Given the description of an element on the screen output the (x, y) to click on. 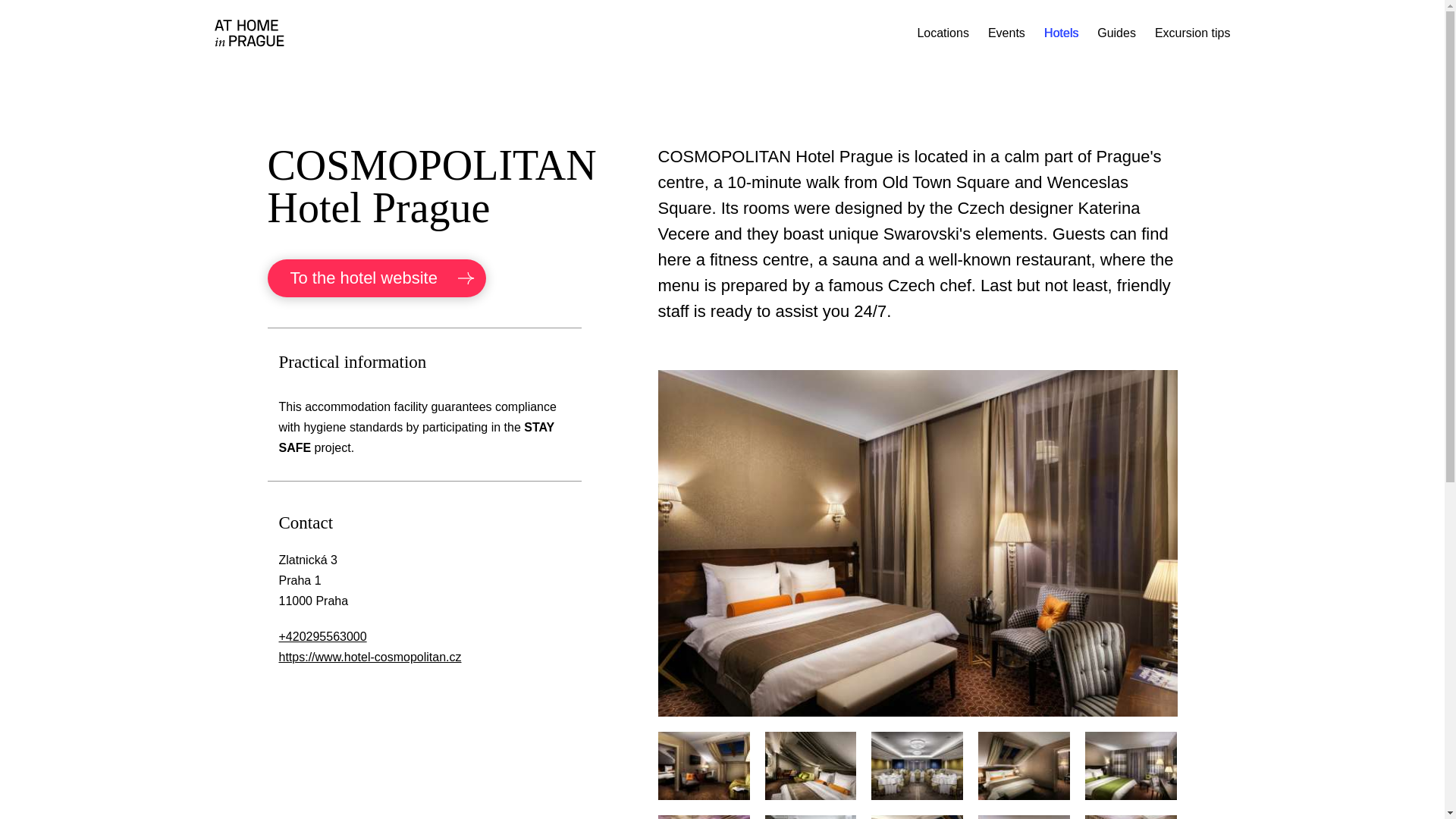
Excursion tips (1192, 31)
Locations (943, 31)
Hotels (1060, 31)
STAY SAFE (416, 437)
Events (1006, 31)
Guides (1116, 31)
To the hotel website (375, 278)
